Given the description of an element on the screen output the (x, y) to click on. 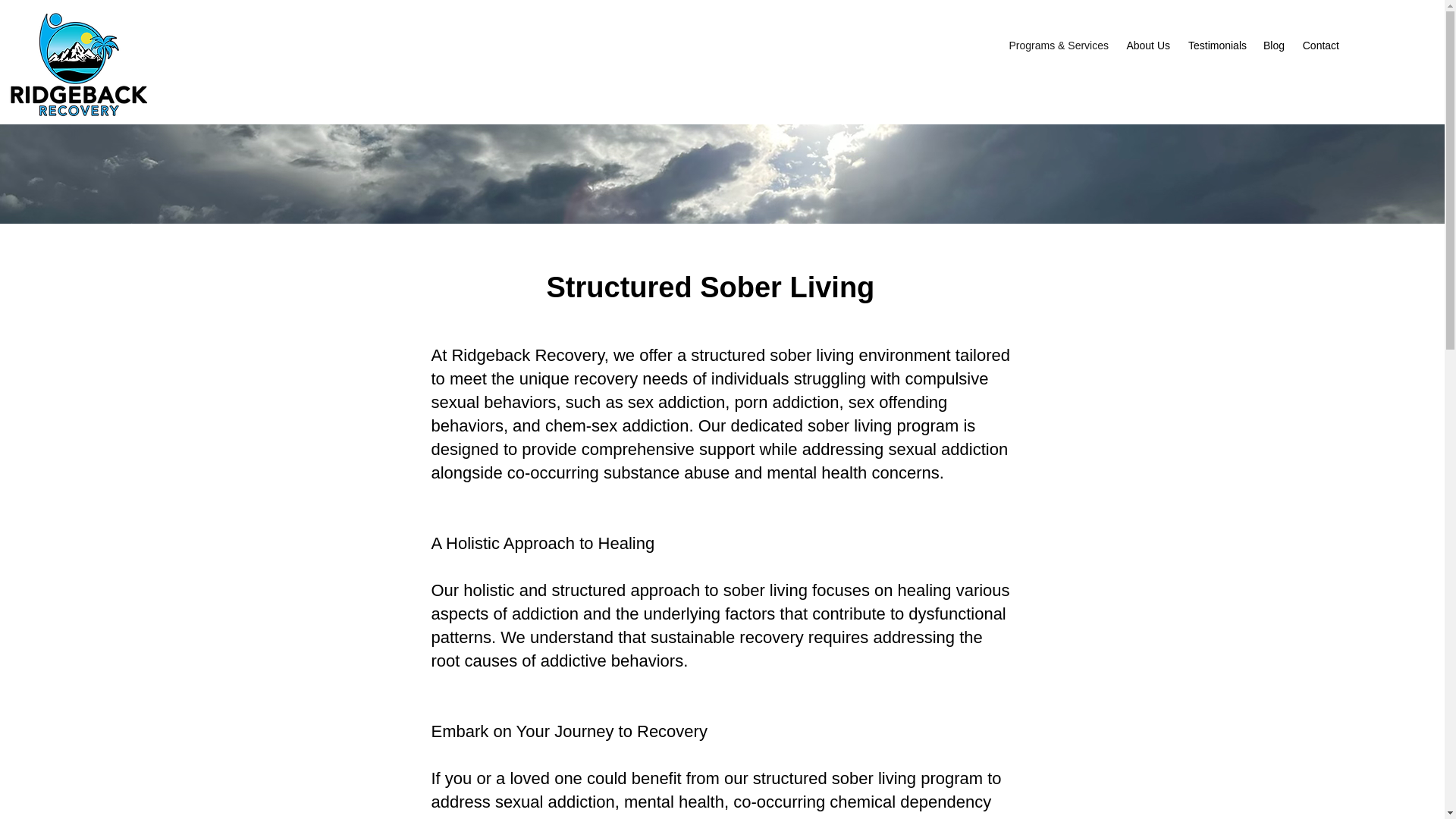
About Us (1146, 45)
Testimonials (1215, 45)
Blog (1272, 45)
Contact (1319, 45)
